Given the description of an element on the screen output the (x, y) to click on. 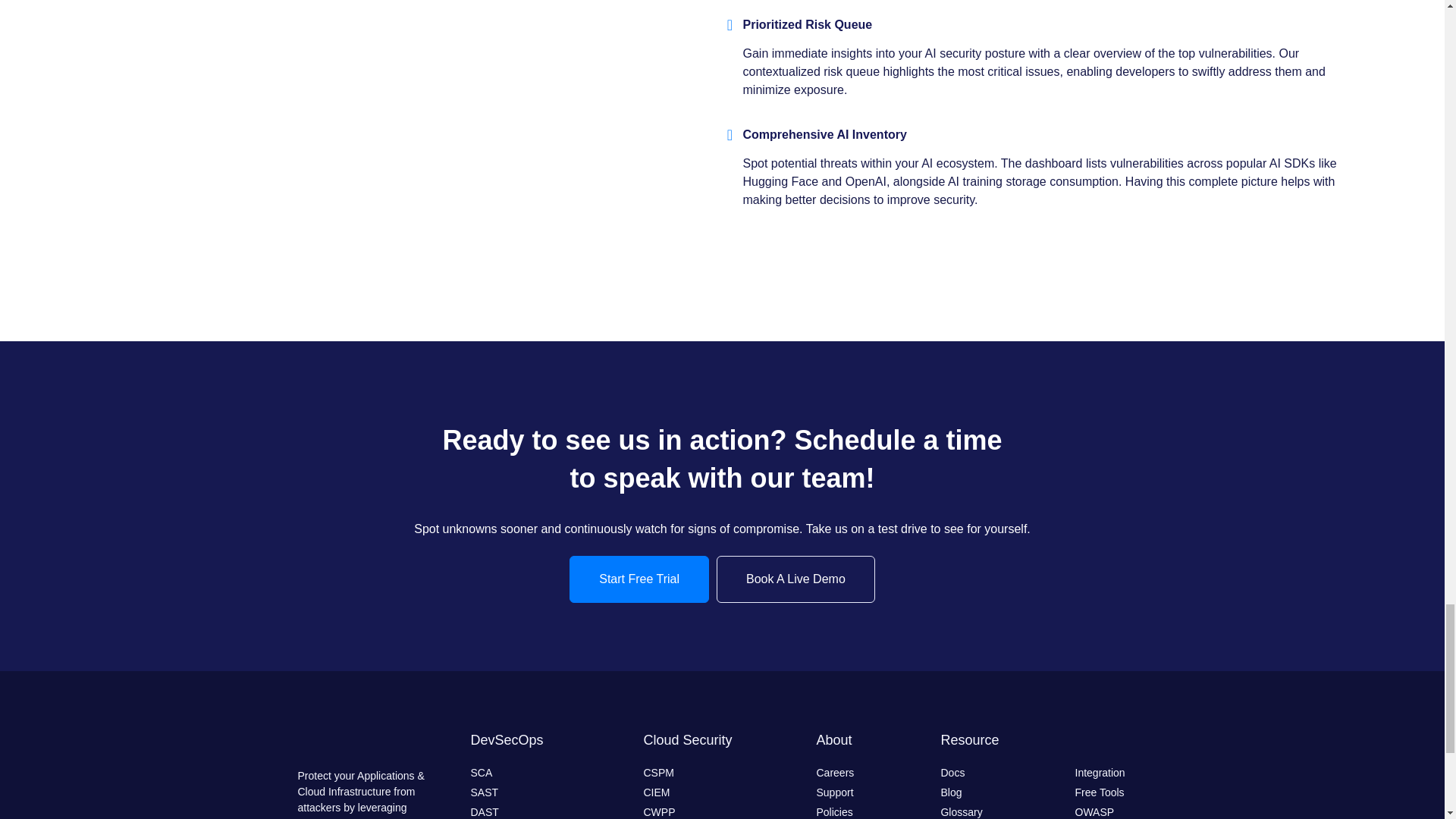
CloudDefense.AI White horizontal Logo (364, 742)
